Given the description of an element on the screen output the (x, y) to click on. 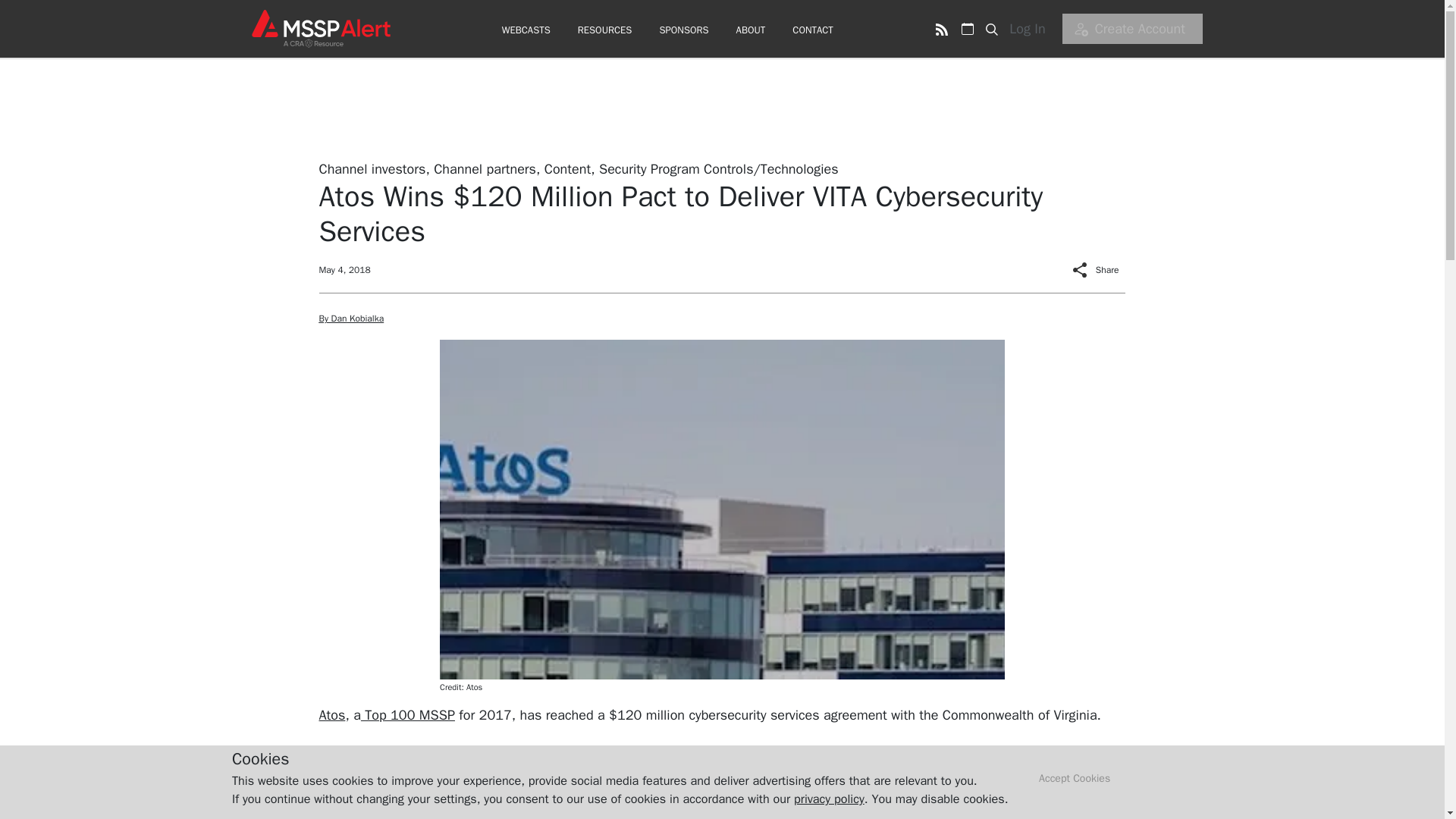
View Cybersecurity Conference Calendar (967, 28)
 Top 100 MSSP (407, 714)
MSSP Alert (319, 27)
Channel partners (484, 168)
Channel investors (371, 168)
CONTACT (812, 30)
Virginia Information Technology Agency (610, 757)
ABOUT (750, 30)
Create Account (1132, 29)
Content (567, 168)
Accept Cookies (1075, 778)
RESOURCES (604, 30)
WEBCASTS (526, 30)
SPONSORS (683, 30)
privacy policy (828, 798)
